Given the description of an element on the screen output the (x, y) to click on. 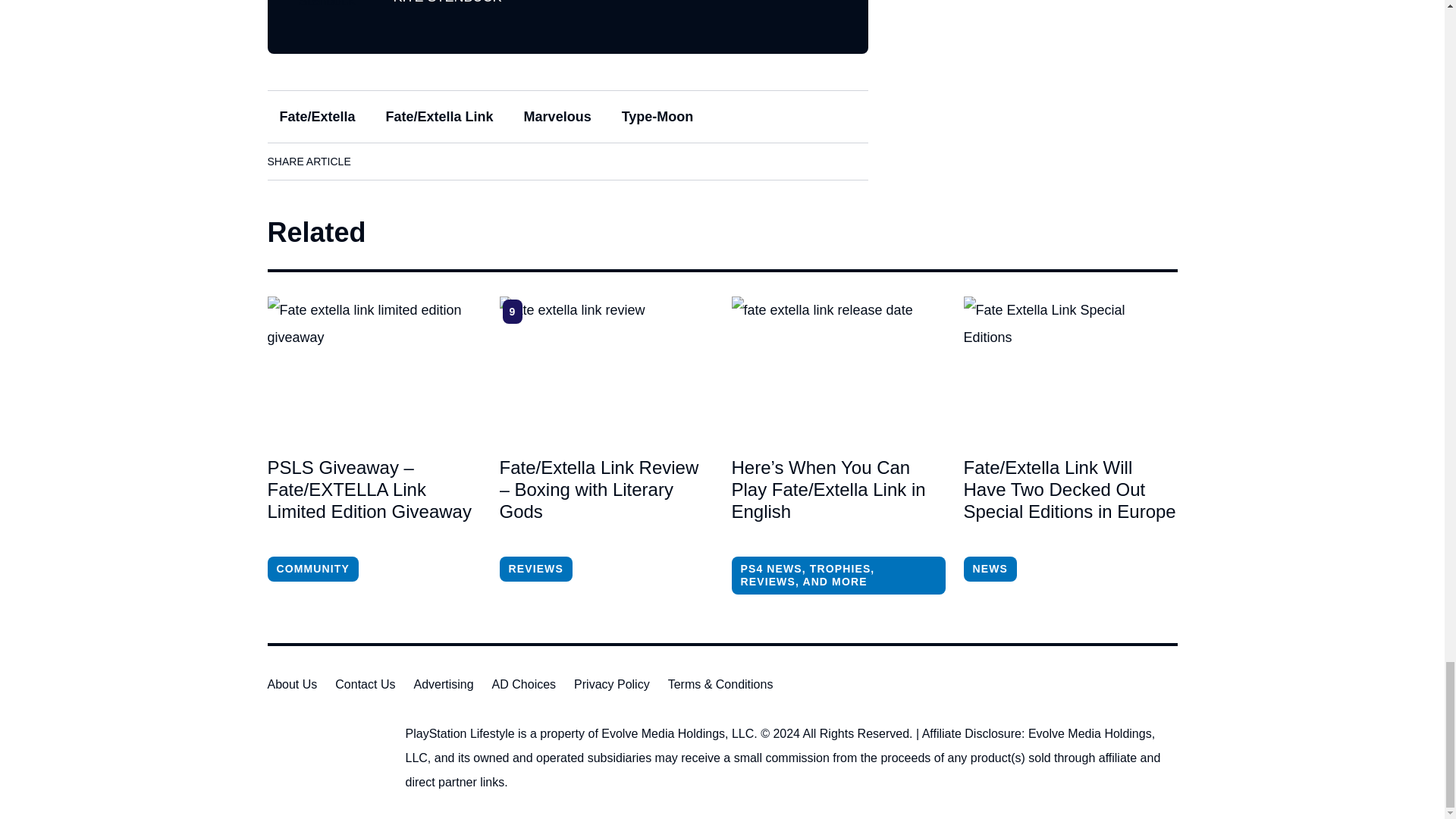
Facebook (377, 161)
Marvelous (558, 116)
LinkedIn (420, 161)
Pinterest (505, 161)
Twitter (463, 161)
KITE STENBUCK (446, 2)
Type-Moon (658, 116)
